Given the description of an element on the screen output the (x, y) to click on. 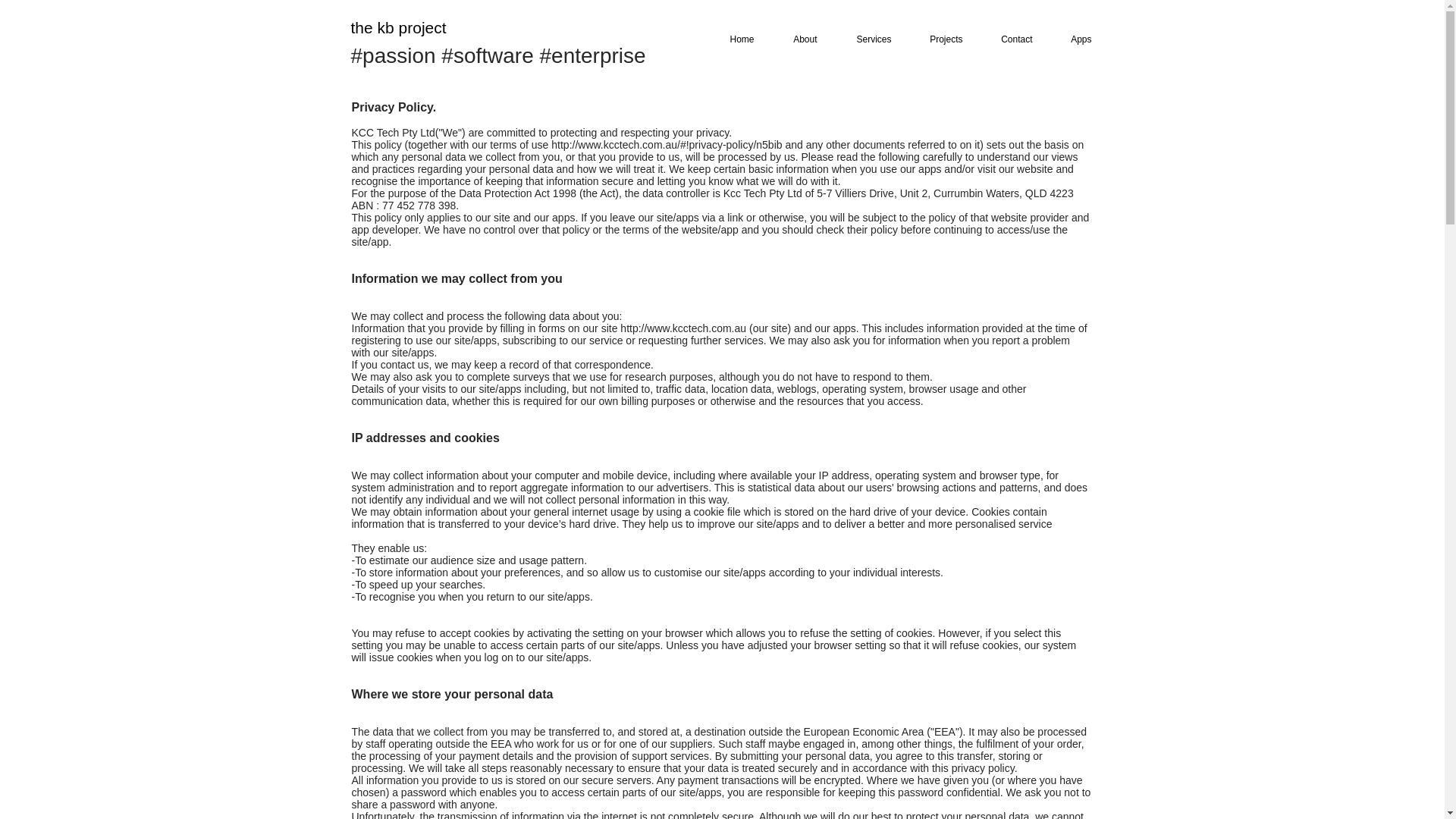
Home Element type: text (735, 39)
Services Element type: text (866, 39)
Projects Element type: text (939, 39)
http://www.kcctech.com.au/#!privacy-policy/n5bib Element type: text (666, 144)
http://www.kcctech.com.au Element type: text (683, 328)
Contact Element type: text (1009, 39)
About Element type: text (798, 39)
